Given the description of an element on the screen output the (x, y) to click on. 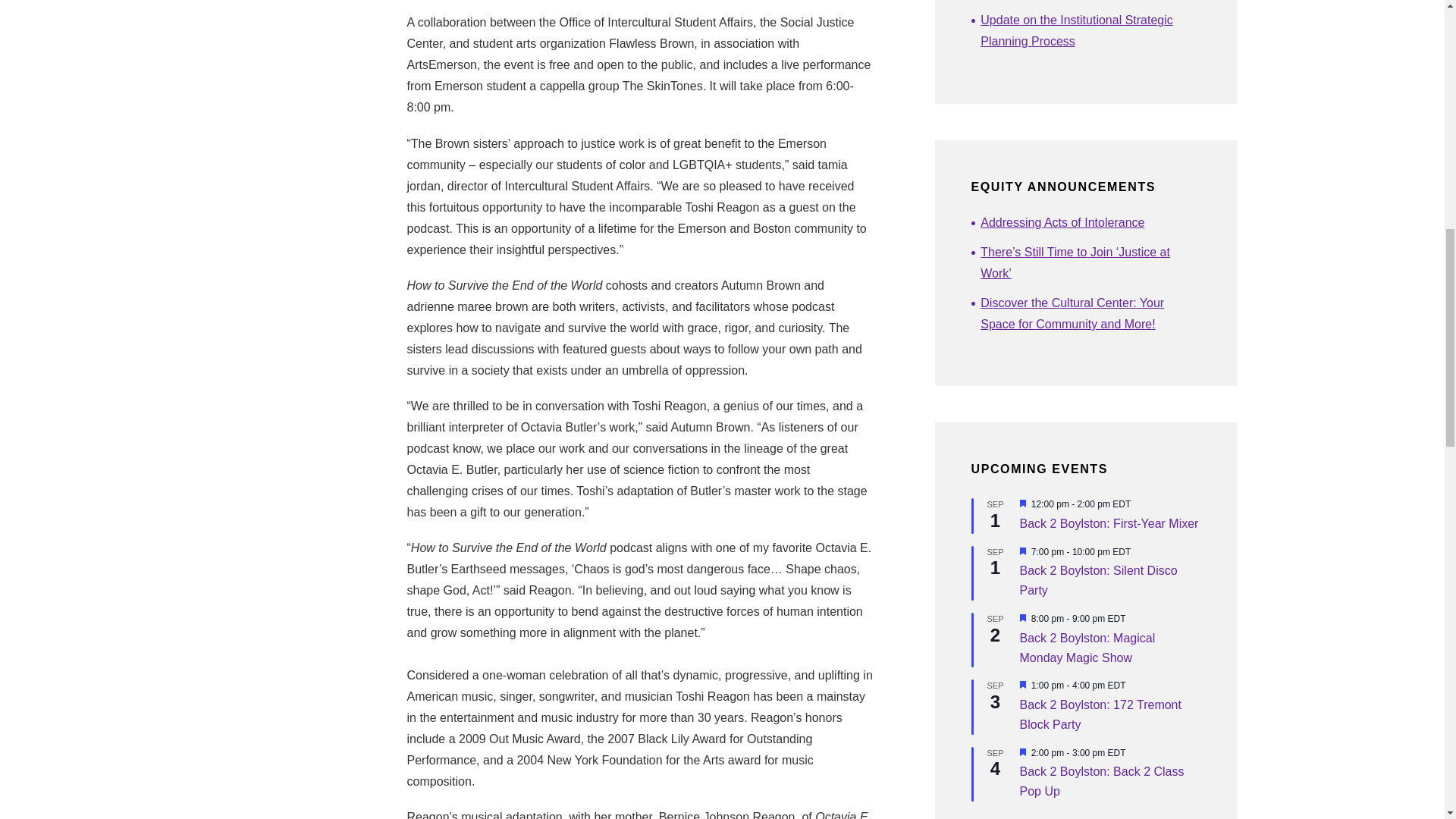
Back 2 Boylston: Magical Monday Magic Show (1086, 648)
Back 2 Boylston: Silent Disco Party (1097, 580)
Back 2 Boylston: Back 2 Class Pop Up (1101, 781)
Back 2 Boylston: First-Year Mixer (1108, 523)
Back 2 Boylston: 172 Tremont Block Party (1099, 715)
